Given the description of an element on the screen output the (x, y) to click on. 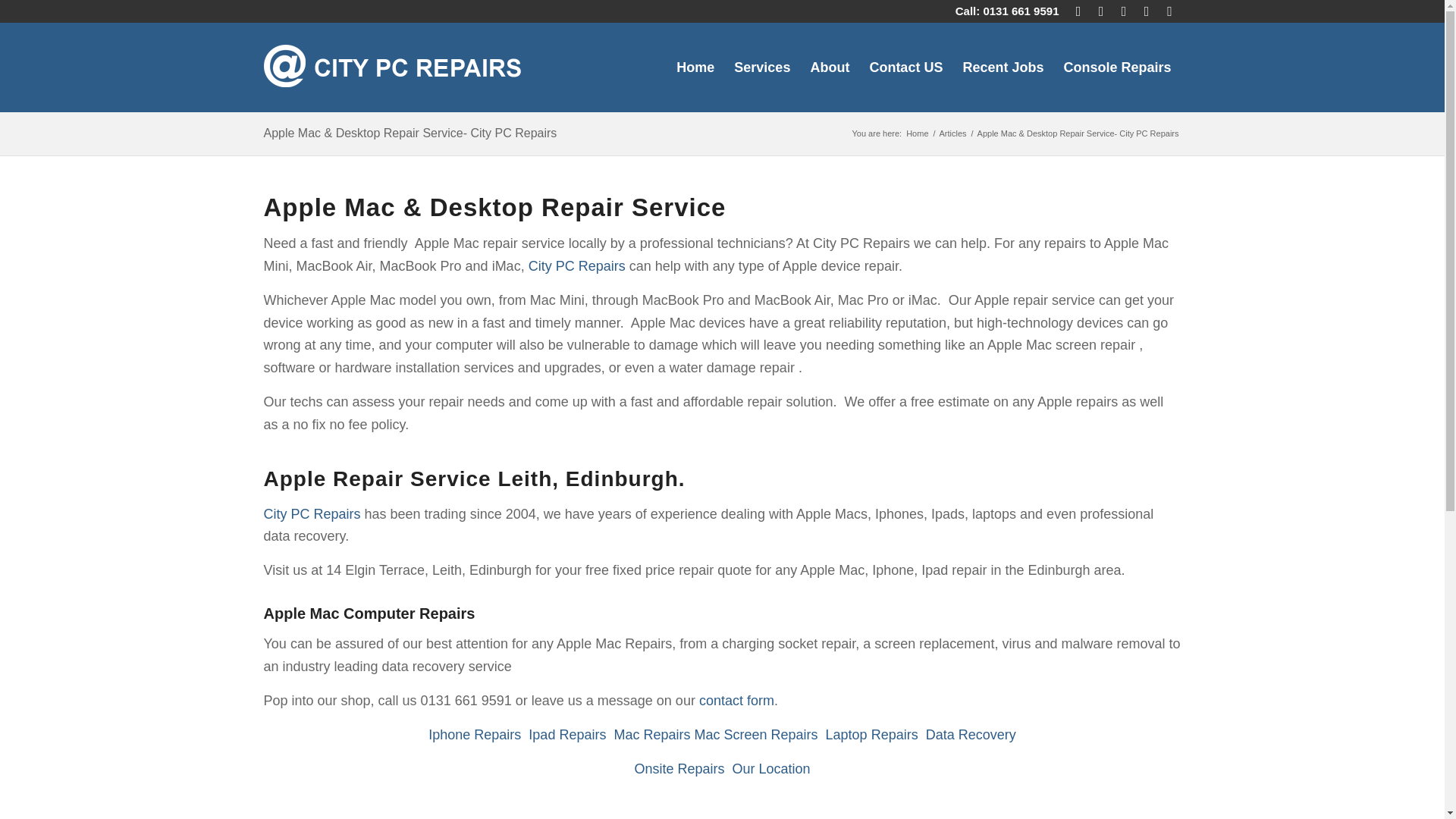
Contact US (905, 67)
Facebook (1124, 11)
logo21 (392, 67)
Recent Jobs (1002, 67)
City PC Repairs (917, 133)
Instagram (1146, 11)
0131 661 9591 (1020, 10)
contact form (736, 700)
logo21 (392, 64)
City PC Repairs (577, 265)
Mail (1078, 11)
Tumblr (1169, 11)
Articles (953, 133)
Home (917, 133)
Mac Repairs (651, 734)
